Given the description of an element on the screen output the (x, y) to click on. 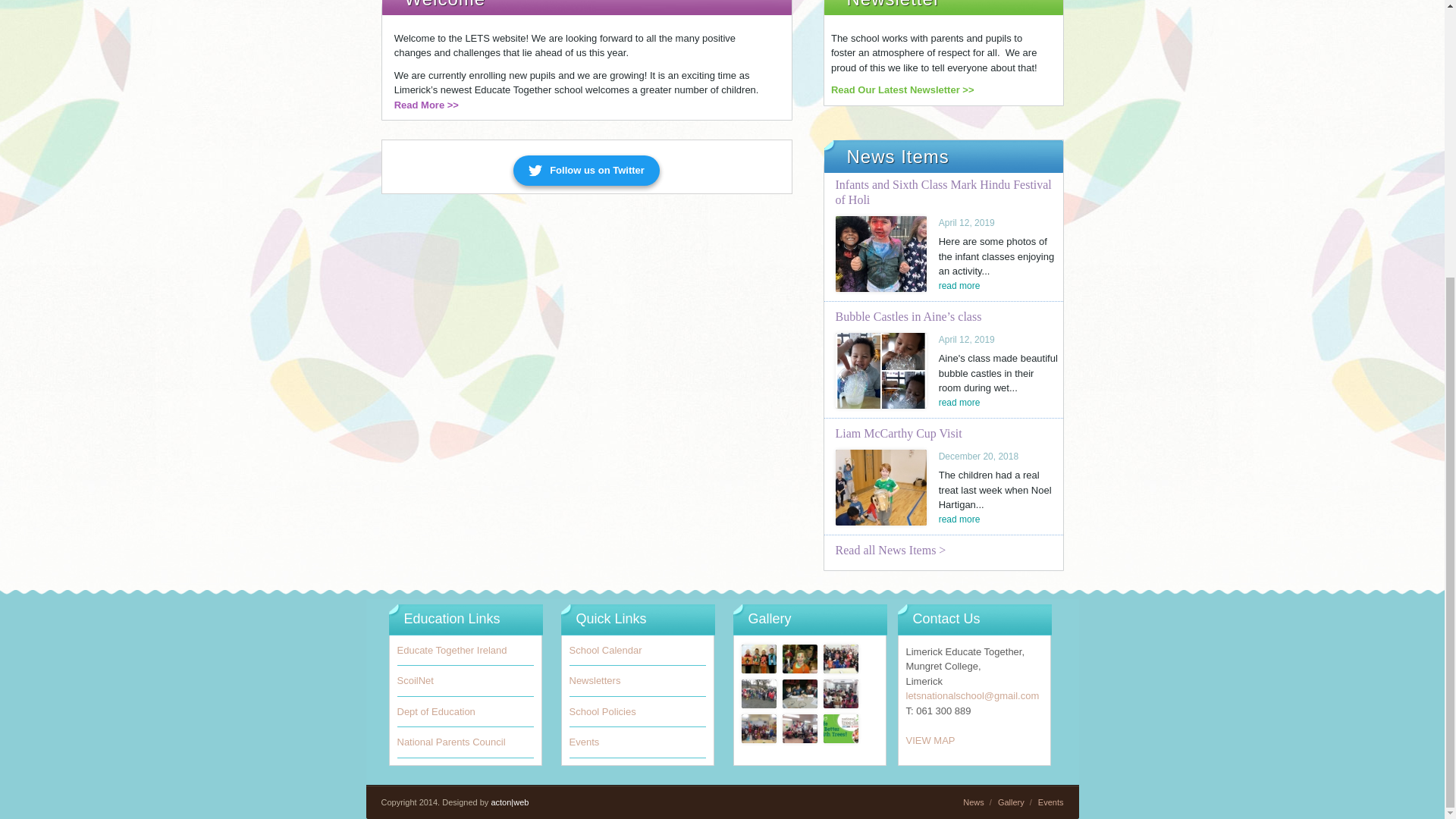
Infants and Sixth Class Mark Hindu Festival of Holi (880, 253)
Infants and Sixth Class Mark Hindu Festival of Holi (943, 192)
read more (959, 285)
read more (959, 401)
Infants and Sixth Class Mark Hindu Festival of Holi (959, 285)
Liam McCarthy Cup Visit (898, 432)
Infants and Sixth Class Mark Hindu Festival of Holi (943, 192)
Liam McCarthy Cup Visit (898, 432)
About (426, 104)
Follow us on Twitter (586, 170)
Visit from The Irish Defence Forces: Dec 2015 (799, 657)
Liam McCarthy Cup Visit (880, 487)
Liam McCarthy Cup Visit (959, 518)
read more (959, 518)
Parents Association: Car Park Repairs Nov 2015 (758, 693)
